Given the description of an element on the screen output the (x, y) to click on. 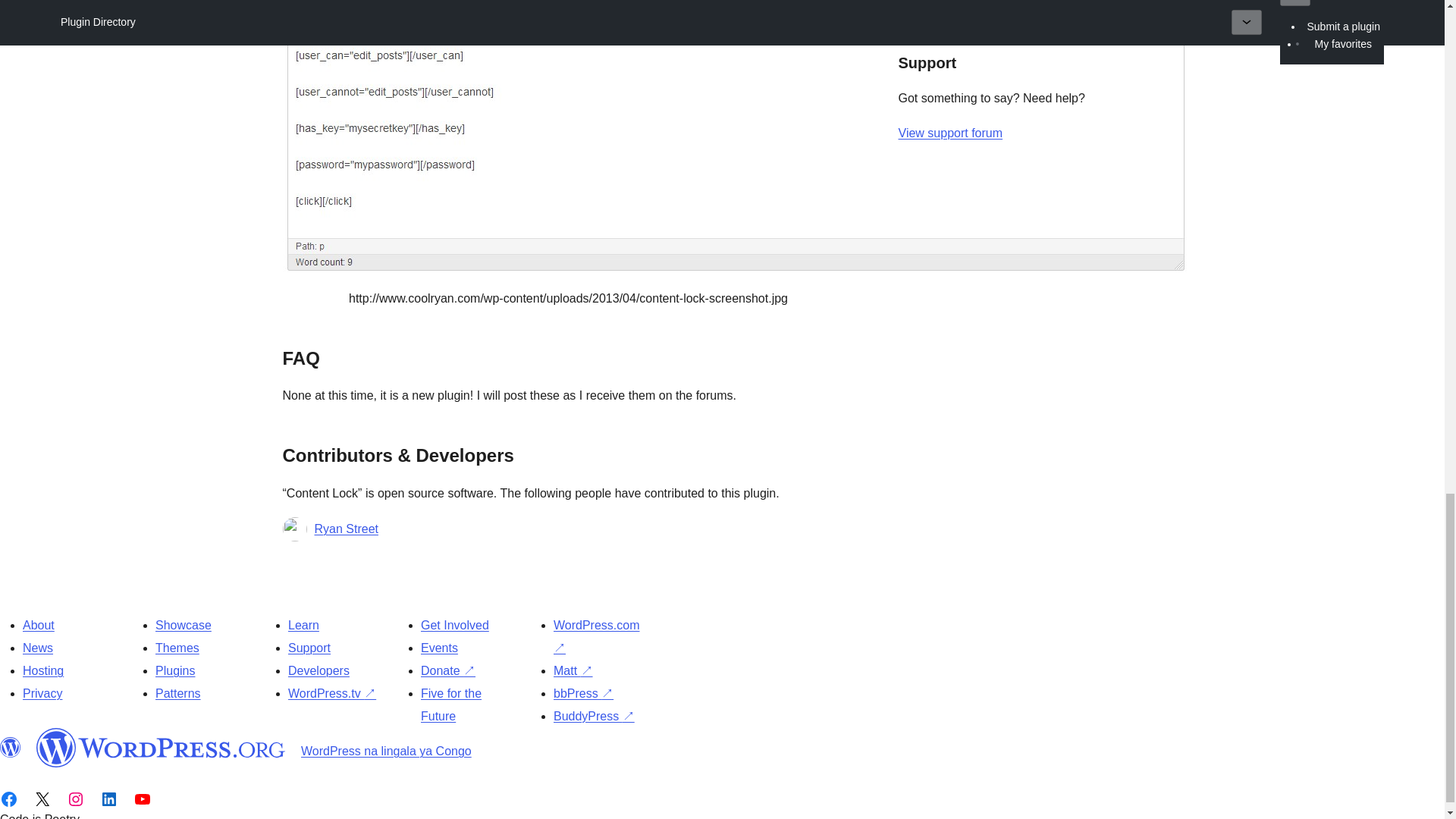
Log in to WordPress.org (966, 5)
Ryan Street (345, 528)
WordPress.org (160, 747)
WordPress.org (10, 747)
